Given the description of an element on the screen output the (x, y) to click on. 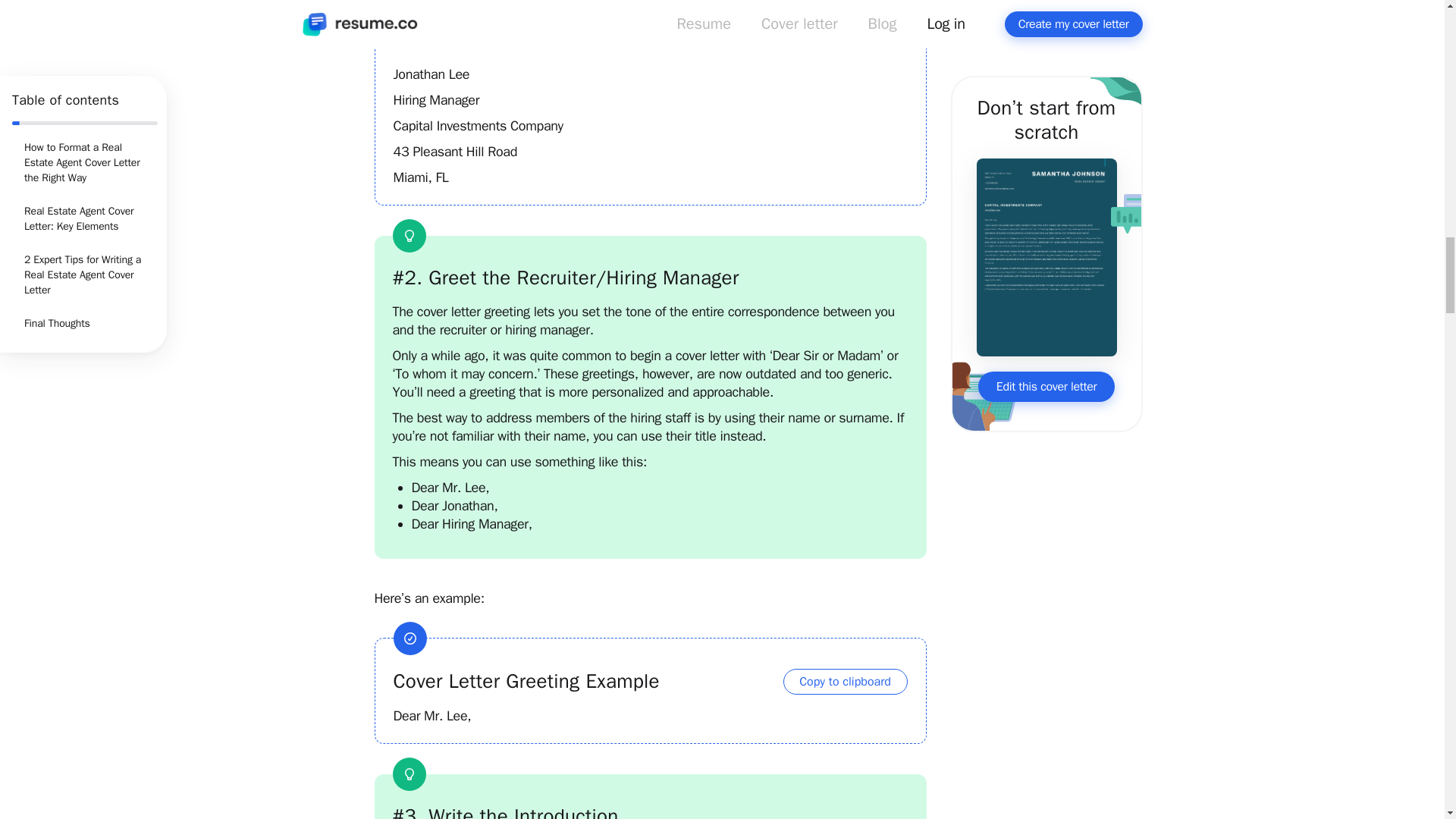
Copy to clipboard (845, 681)
